Given the description of an element on the screen output the (x, y) to click on. 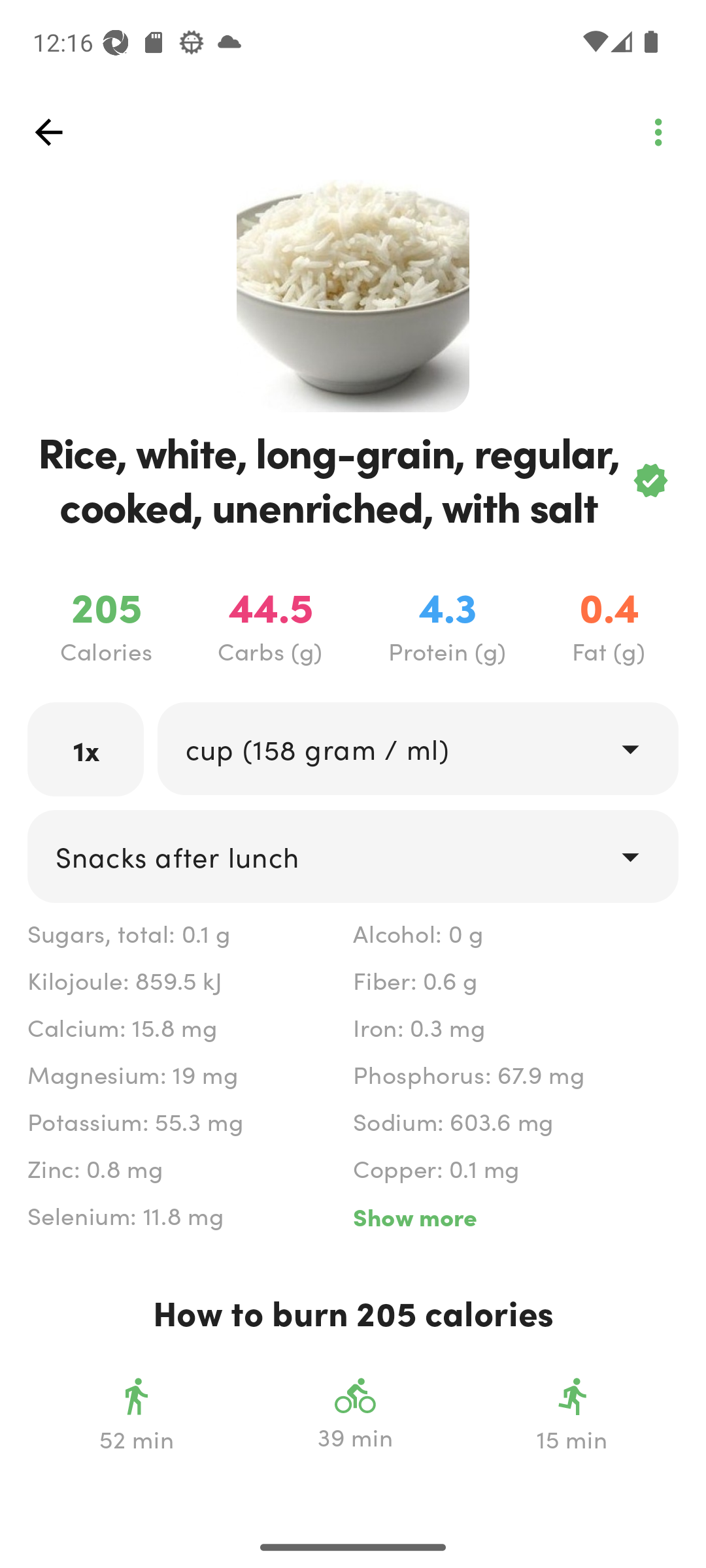
top_left_action (48, 132)
top_left_action (658, 132)
1x labeled_edit_text (85, 749)
drop_down cup (158 gram / ml) (417, 748)
drop_down Snacks after lunch (352, 856)
Show more (515, 1216)
